Given the description of an element on the screen output the (x, y) to click on. 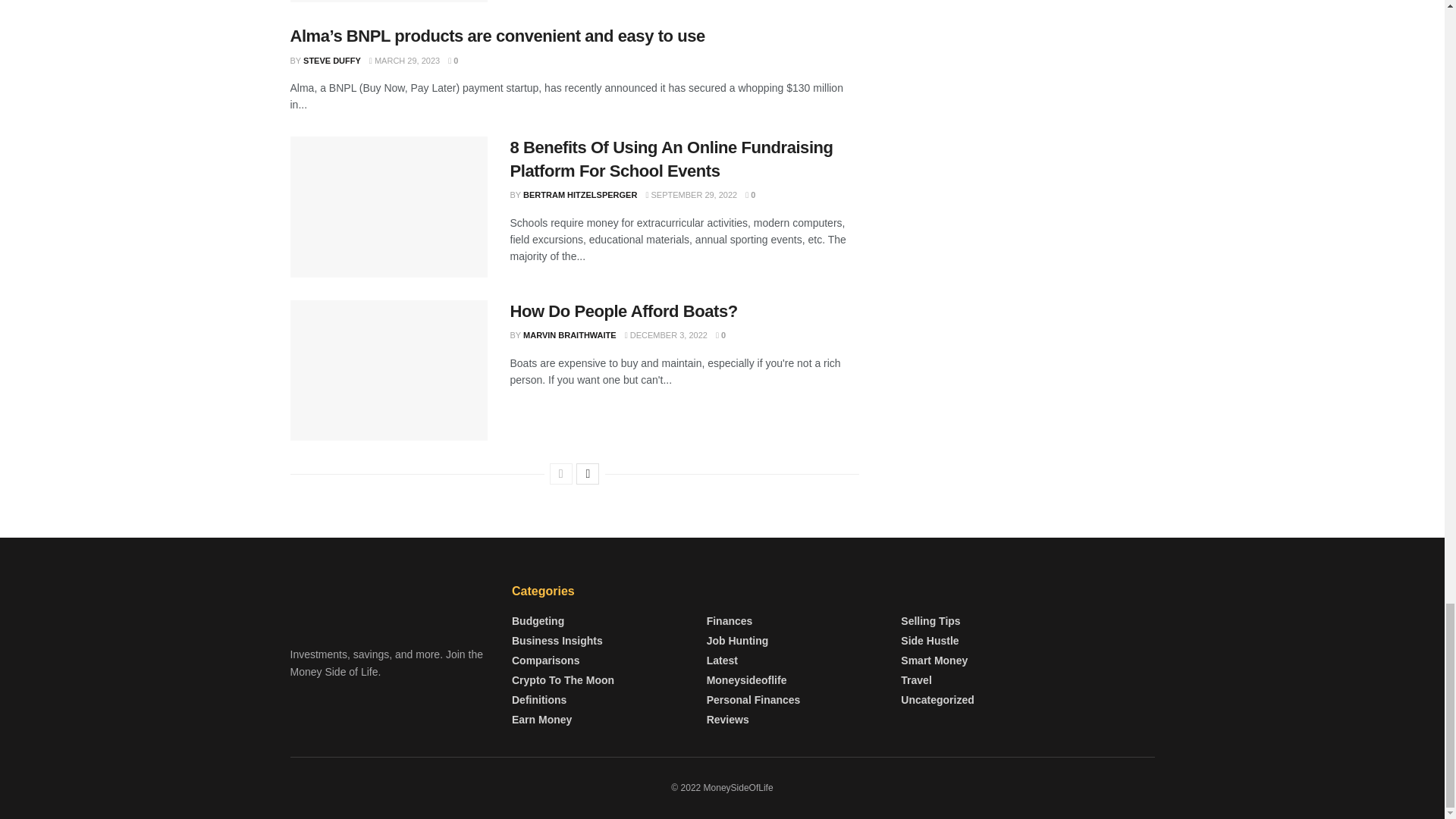
Previous (561, 473)
Next (587, 473)
moneyside (389, 603)
